Given the description of an element on the screen output the (x, y) to click on. 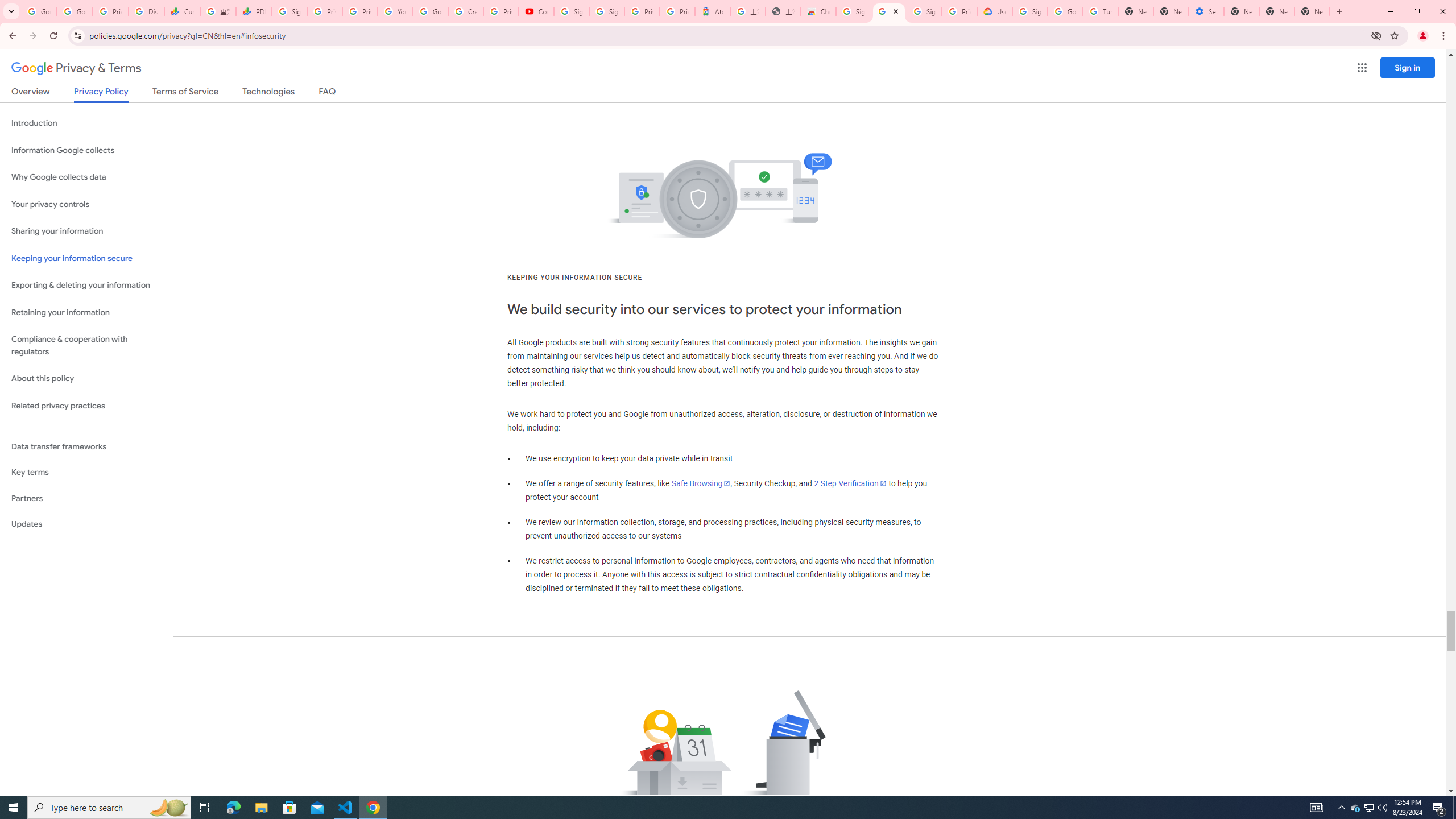
Retaining your information (86, 312)
